Given the description of an element on the screen output the (x, y) to click on. 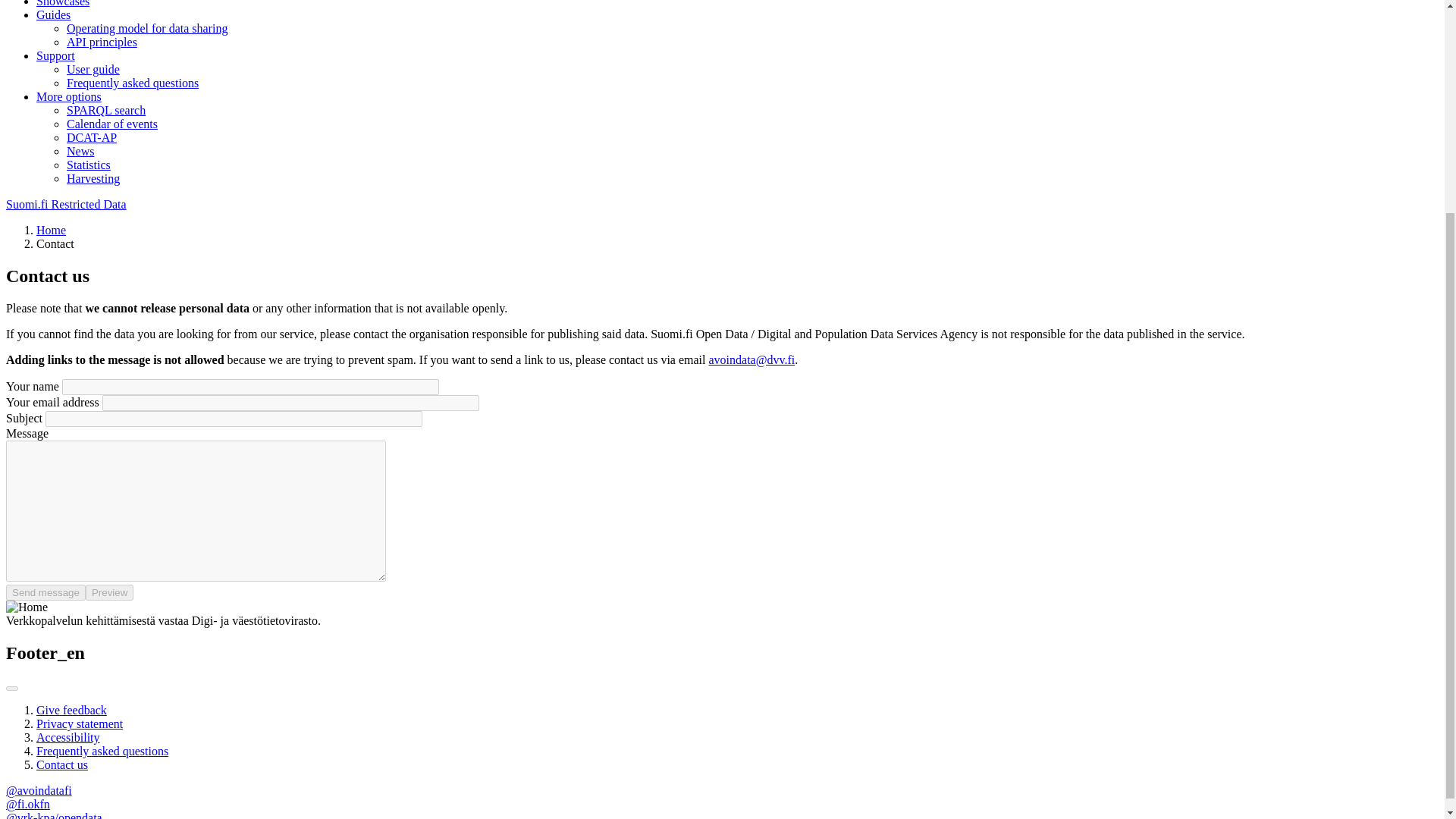
Harvesting (92, 178)
Home (50, 229)
More options (68, 96)
DCAT-AP (91, 137)
Calendar of events (111, 123)
Support (55, 55)
Operating model for data sharing (146, 28)
News (80, 151)
SPARQL search (105, 110)
Guides (52, 14)
Accessibility (68, 737)
Privacy statement (79, 723)
SPARQL search (105, 110)
Suomi.fi Restricted Data (65, 204)
Calendar of events (111, 123)
